Given the description of an element on the screen output the (x, y) to click on. 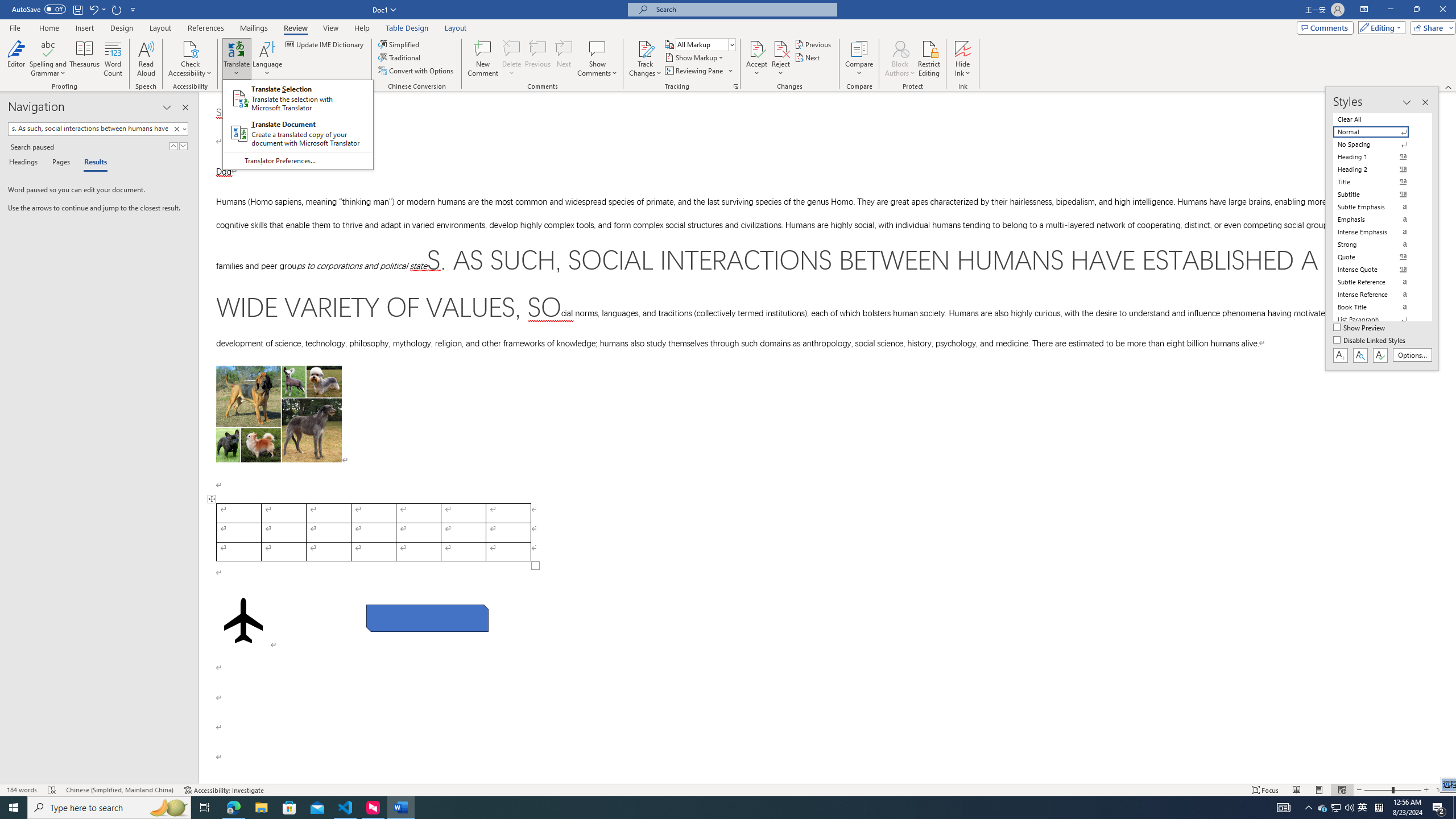
Table Design (1335, 807)
Notification Chevron (407, 28)
Microsoft Edge - 1 running window (1308, 807)
Show Comments (233, 807)
Hide Ink (597, 48)
Language (962, 48)
Tr&anslate (267, 58)
Reviewing Pane (298, 124)
Class: NetUIScrollBar (694, 69)
Block Authors (1450, 437)
Subtle Reference (900, 58)
Update IME Dictionary... (1377, 282)
Show Preview (324, 44)
